Given the description of an element on the screen output the (x, y) to click on. 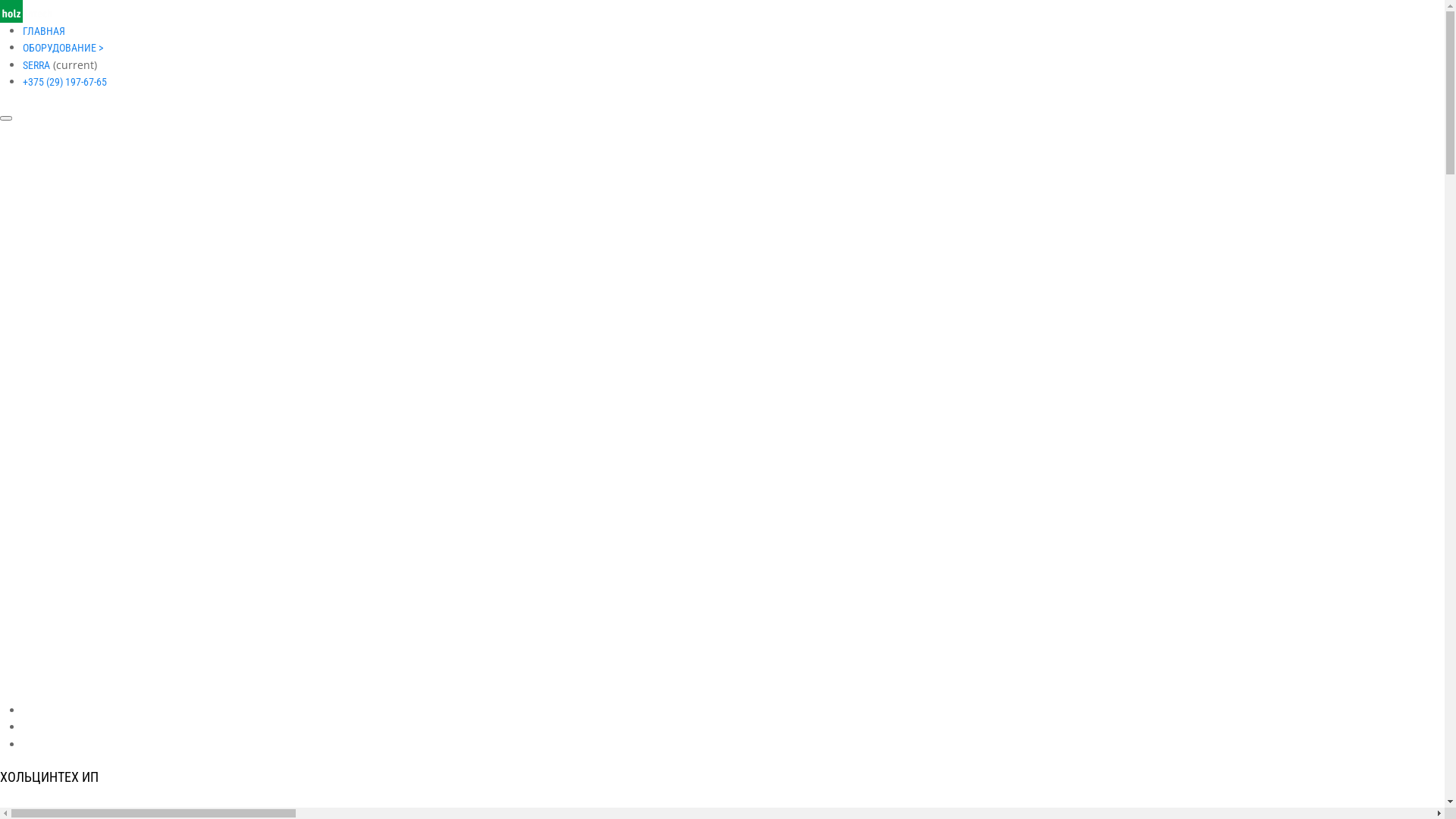
+375 (29) 197-67-65 Element type: text (64, 81)
SERRA Element type: text (36, 65)
